Given the description of an element on the screen output the (x, y) to click on. 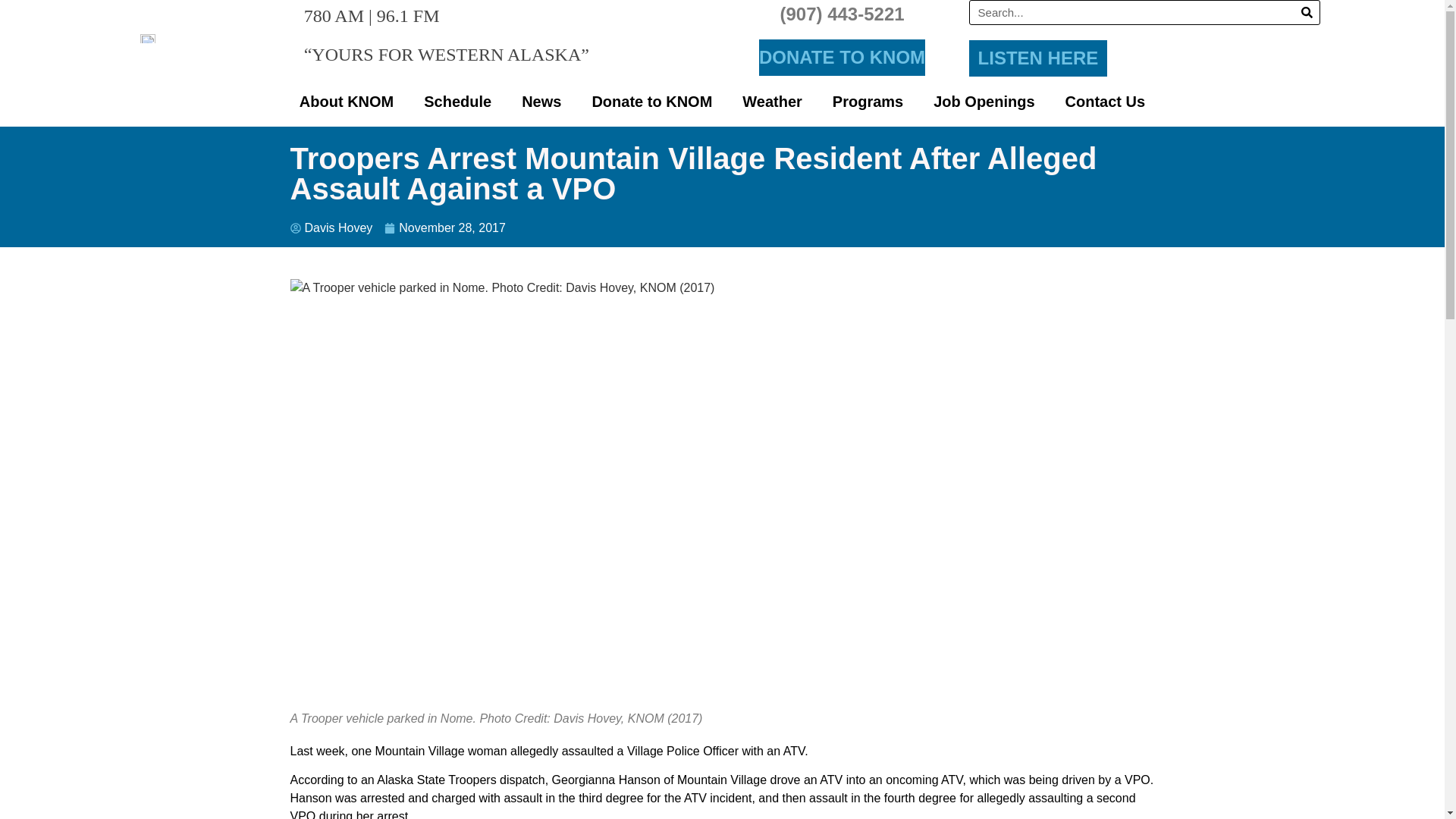
LISTEN HERE (1038, 58)
DONATE TO KNOM (841, 57)
